Given the description of an element on the screen output the (x, y) to click on. 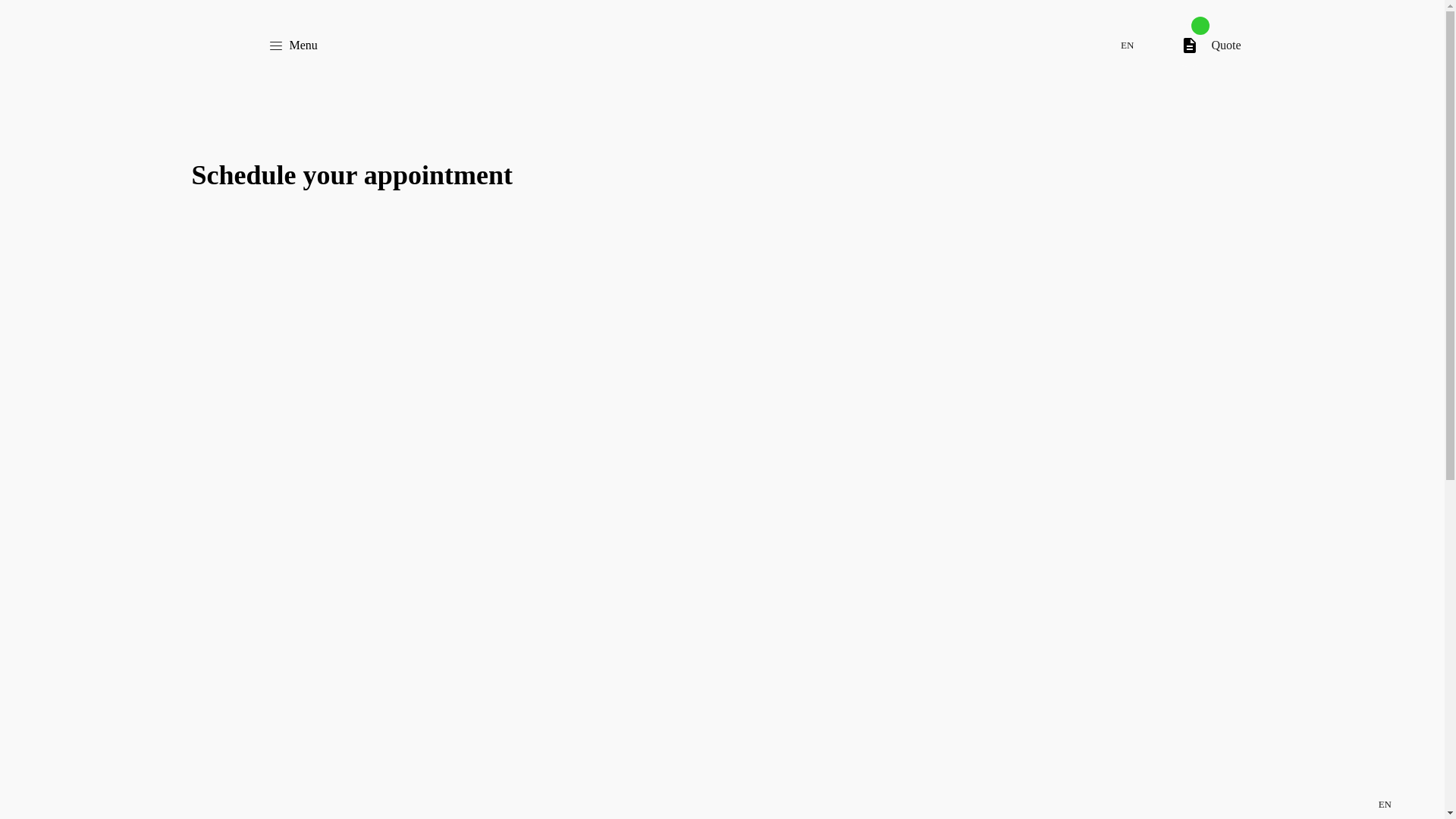
Quote Element type: text (1210, 45)
Menu Element type: text (292, 45)
